Given the description of an element on the screen output the (x, y) to click on. 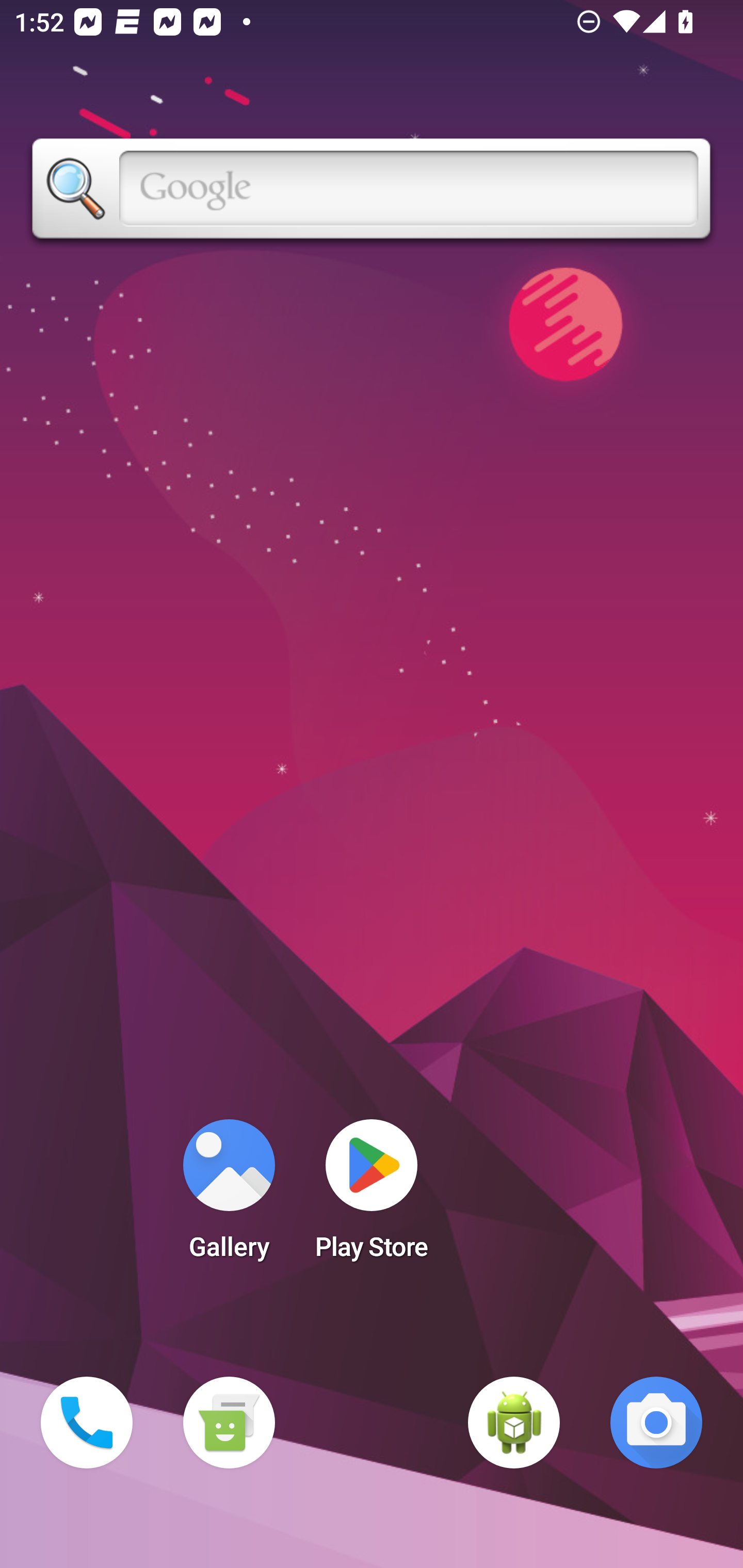
Gallery (228, 1195)
Play Store (371, 1195)
Phone (86, 1422)
Messaging (228, 1422)
WebView Browser Tester (513, 1422)
Camera (656, 1422)
